Given the description of an element on the screen output the (x, y) to click on. 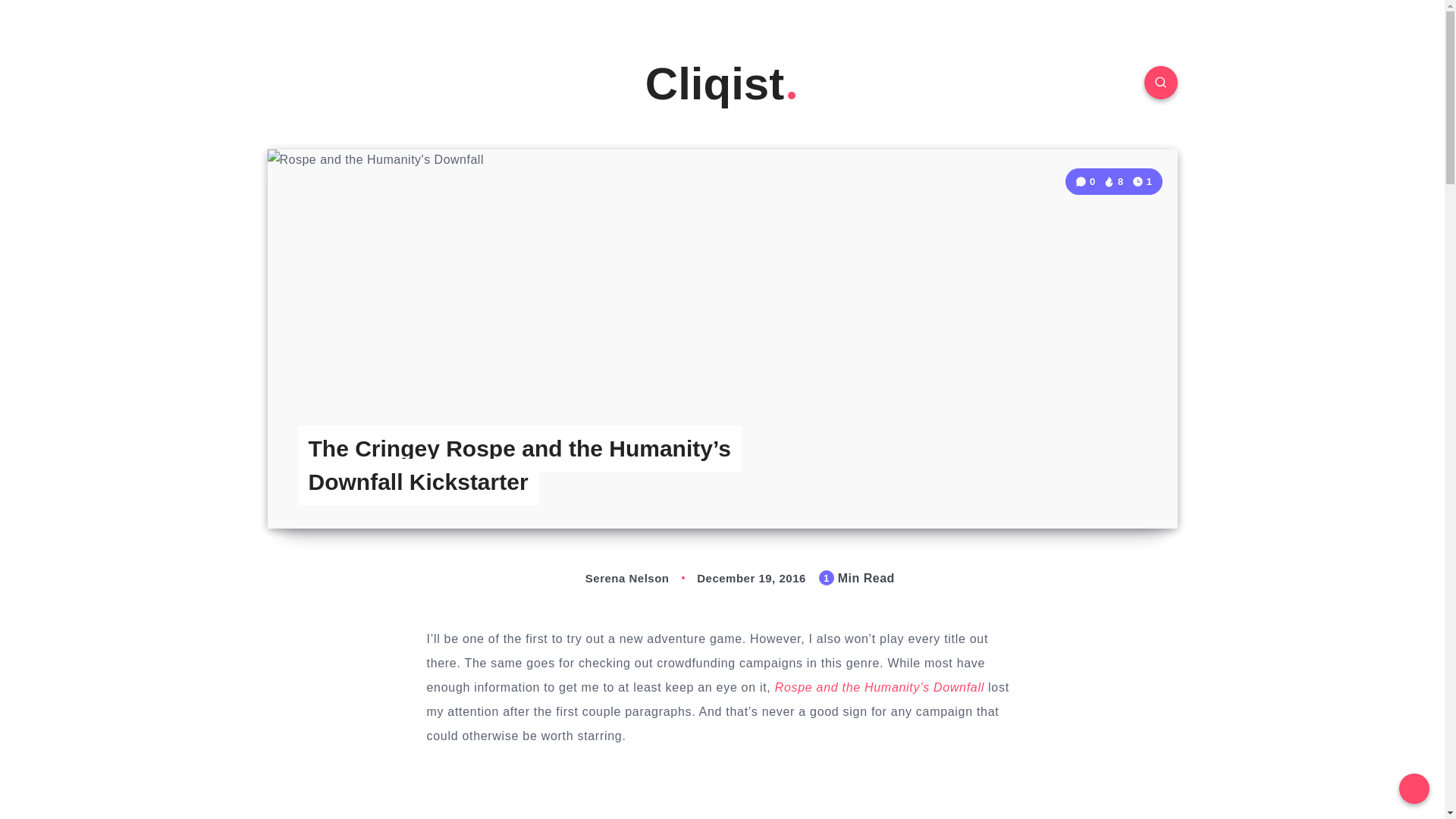
8 Views (1113, 181)
Author: Serena Nelson (611, 577)
0 Comments (1087, 181)
Cliqist (722, 83)
0 (1087, 181)
Serena Nelson (611, 577)
1 Min Read (1142, 181)
